Given the description of an element on the screen output the (x, y) to click on. 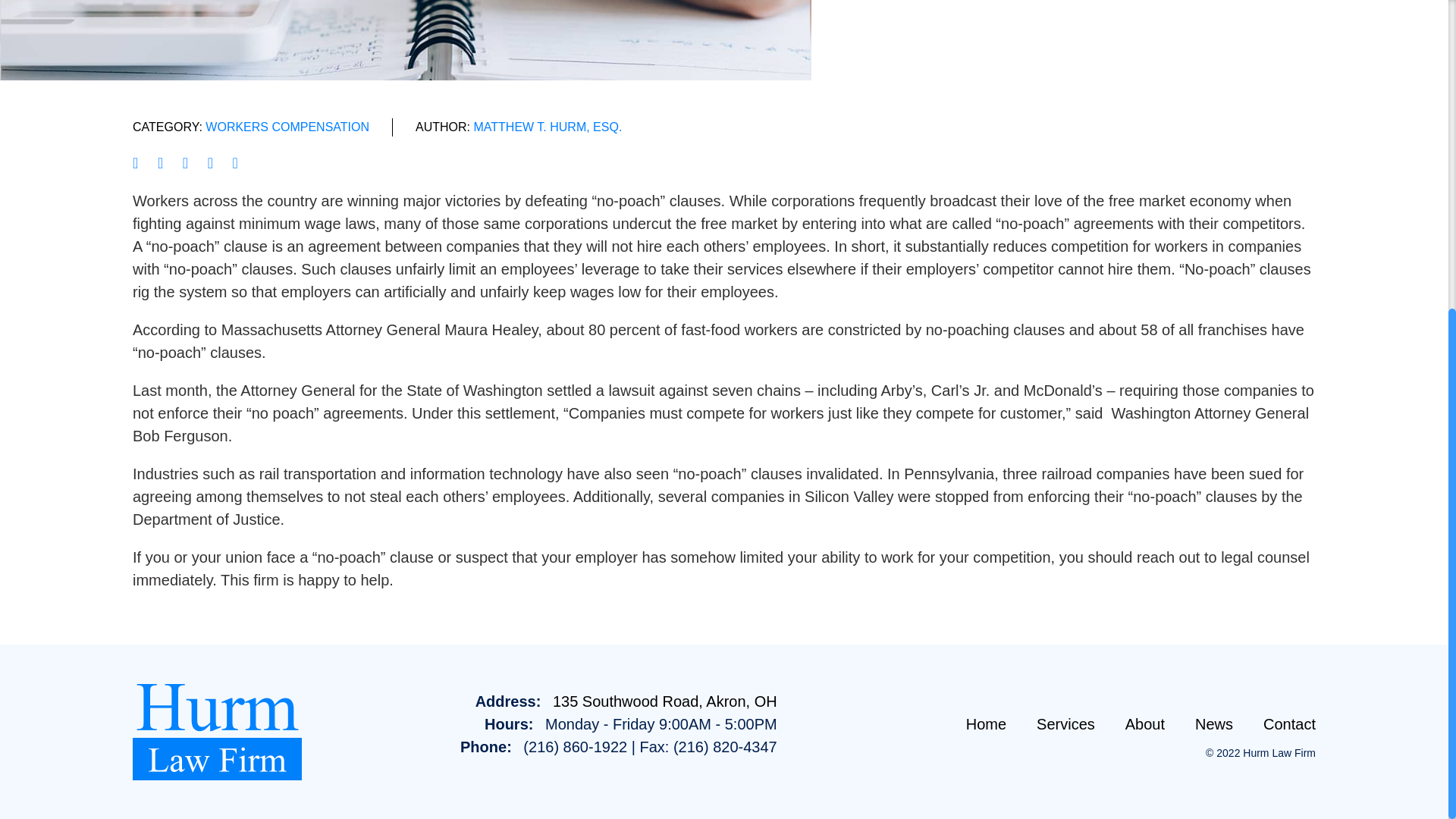
News (1214, 723)
About (1144, 723)
Contact (1289, 723)
CATEGORY: WORKERS COMPENSATION (250, 126)
Services (1065, 723)
Home (986, 723)
135 Southwood Road, Akron, OH (665, 701)
